Given the description of an element on the screen output the (x, y) to click on. 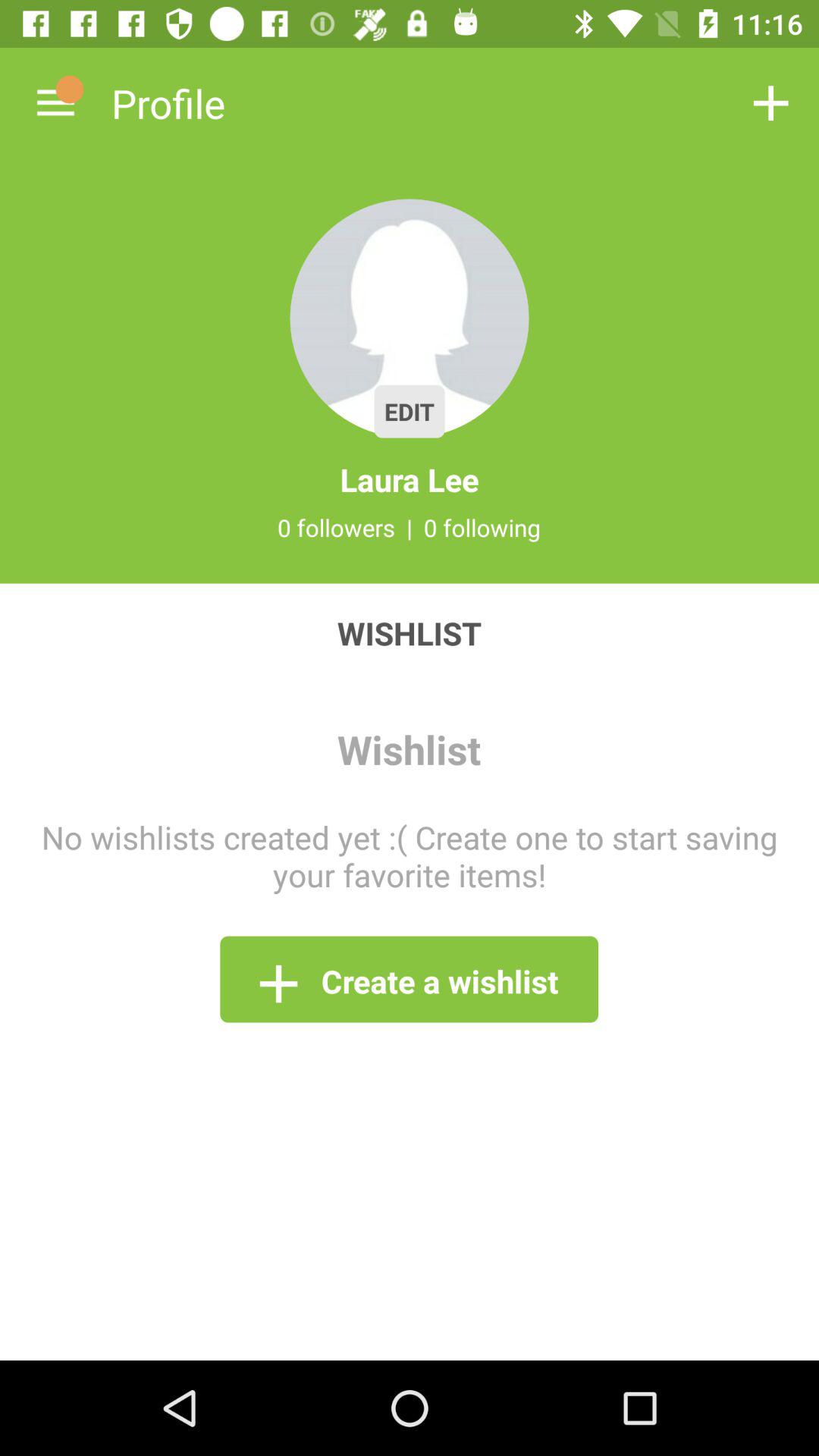
launch the icon to the left of the profile icon (55, 103)
